Given the description of an element on the screen output the (x, y) to click on. 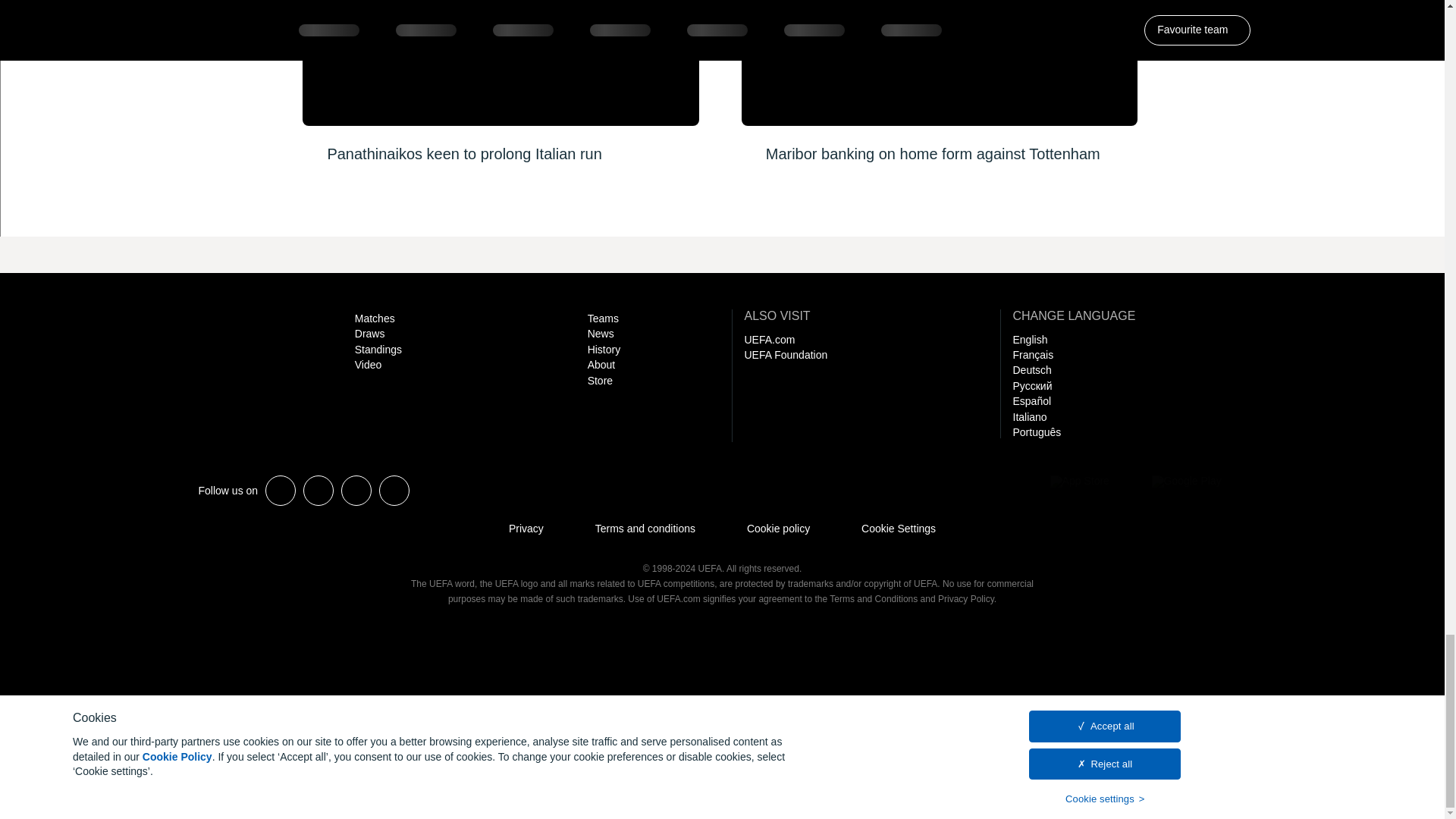
Maribor banking on home form against Tottenham (939, 88)
twitter (279, 490)
UEFA.com (769, 339)
Draws (370, 333)
Panathinaikos keen to prolong Italian run (499, 88)
Italiano (1029, 417)
Matches (374, 318)
Deutsch (1032, 369)
facebook (317, 490)
Standings (378, 349)
